Given the description of an element on the screen output the (x, y) to click on. 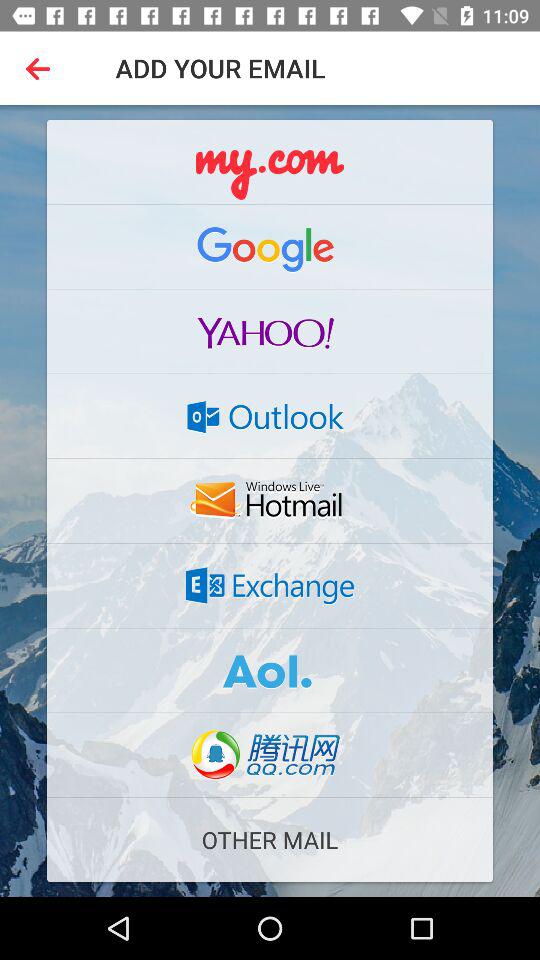
etc (269, 162)
